Given the description of an element on the screen output the (x, y) to click on. 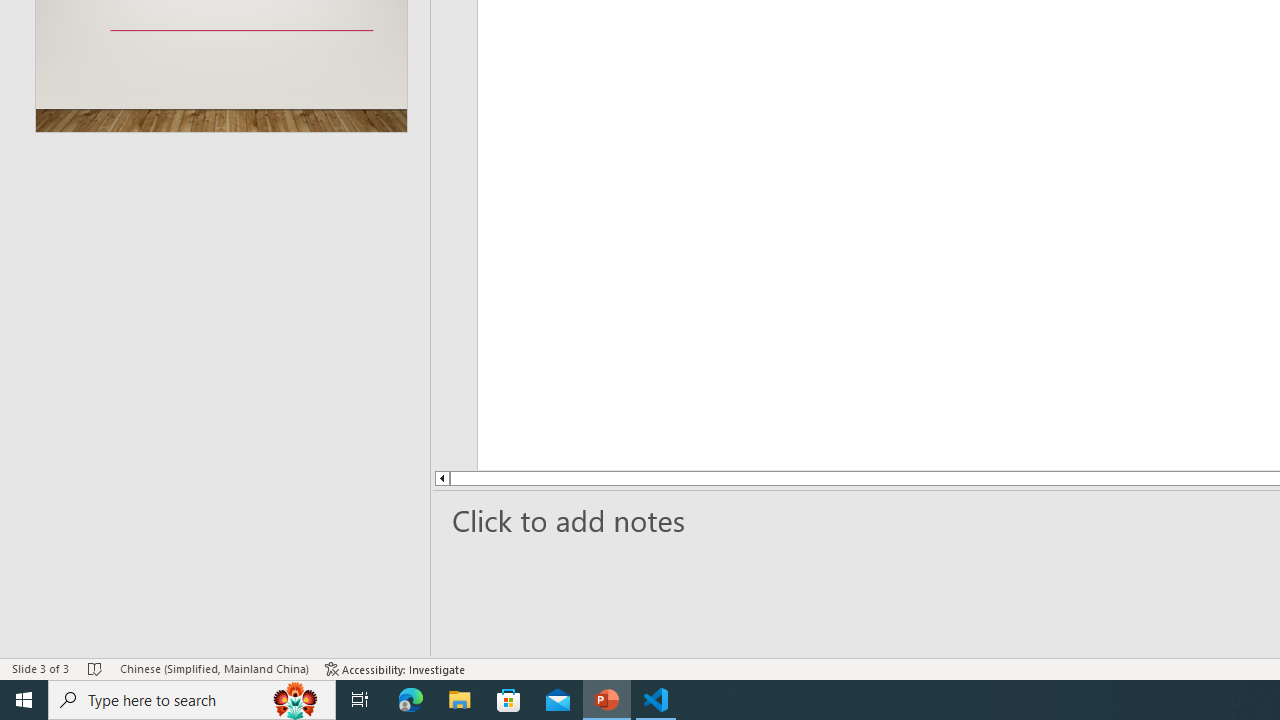
Line up (381, 478)
Spell Check No Errors (95, 668)
Accessibility Checker Accessibility: Investigate (395, 668)
